Given the description of an element on the screen output the (x, y) to click on. 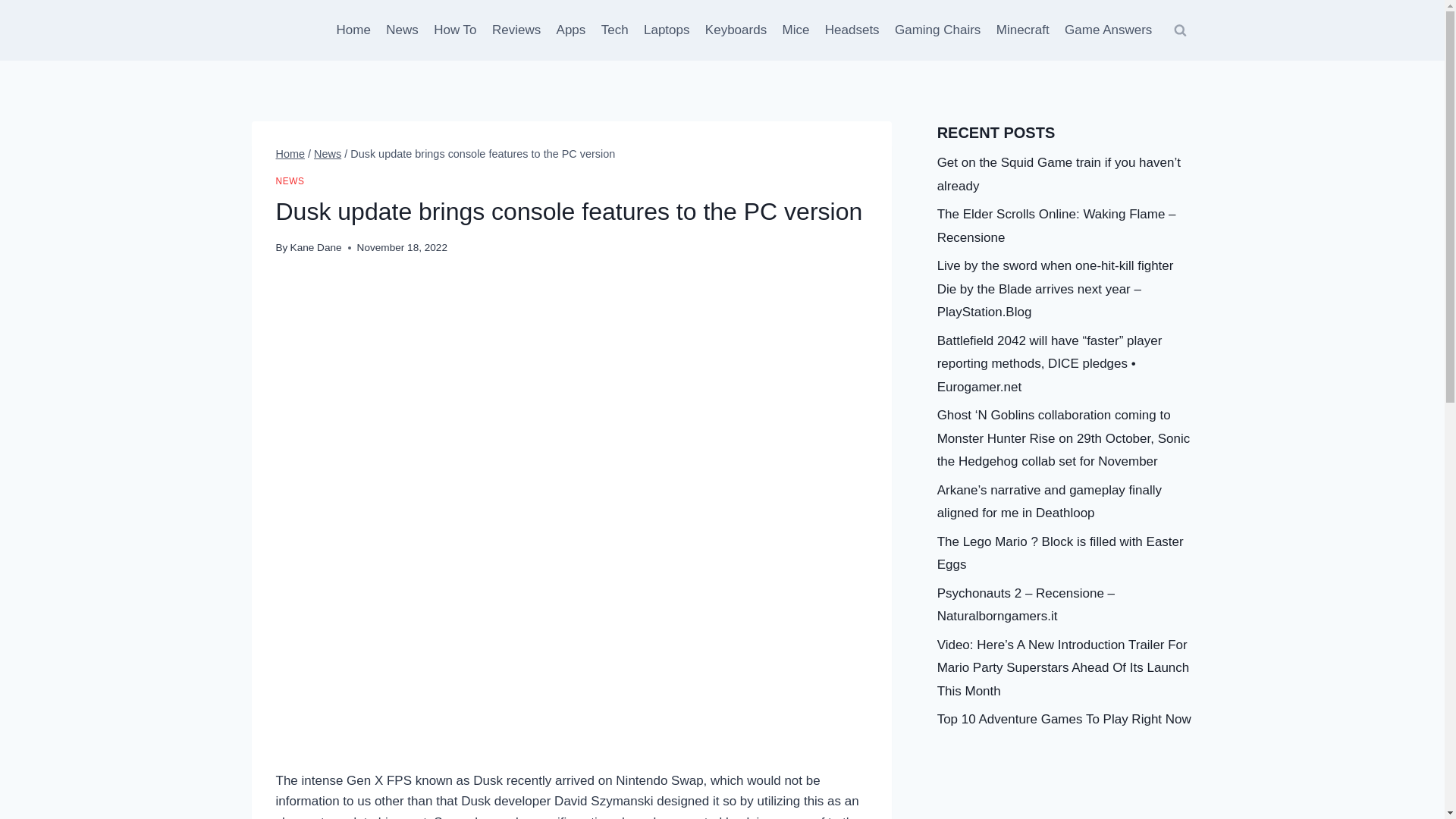
Keyboards (735, 30)
Reviews (516, 30)
Game Answers (1108, 30)
Mice (795, 30)
The Lego Mario ? Block is filled with Easter Eggs (1060, 553)
How To (455, 30)
NEWS (290, 181)
Minecraft (1022, 30)
Tech (613, 30)
Home (290, 153)
Kane Dane (315, 247)
Laptops (666, 30)
Home (353, 30)
Headsets (851, 30)
Gaming Chairs (937, 30)
